Given the description of an element on the screen output the (x, y) to click on. 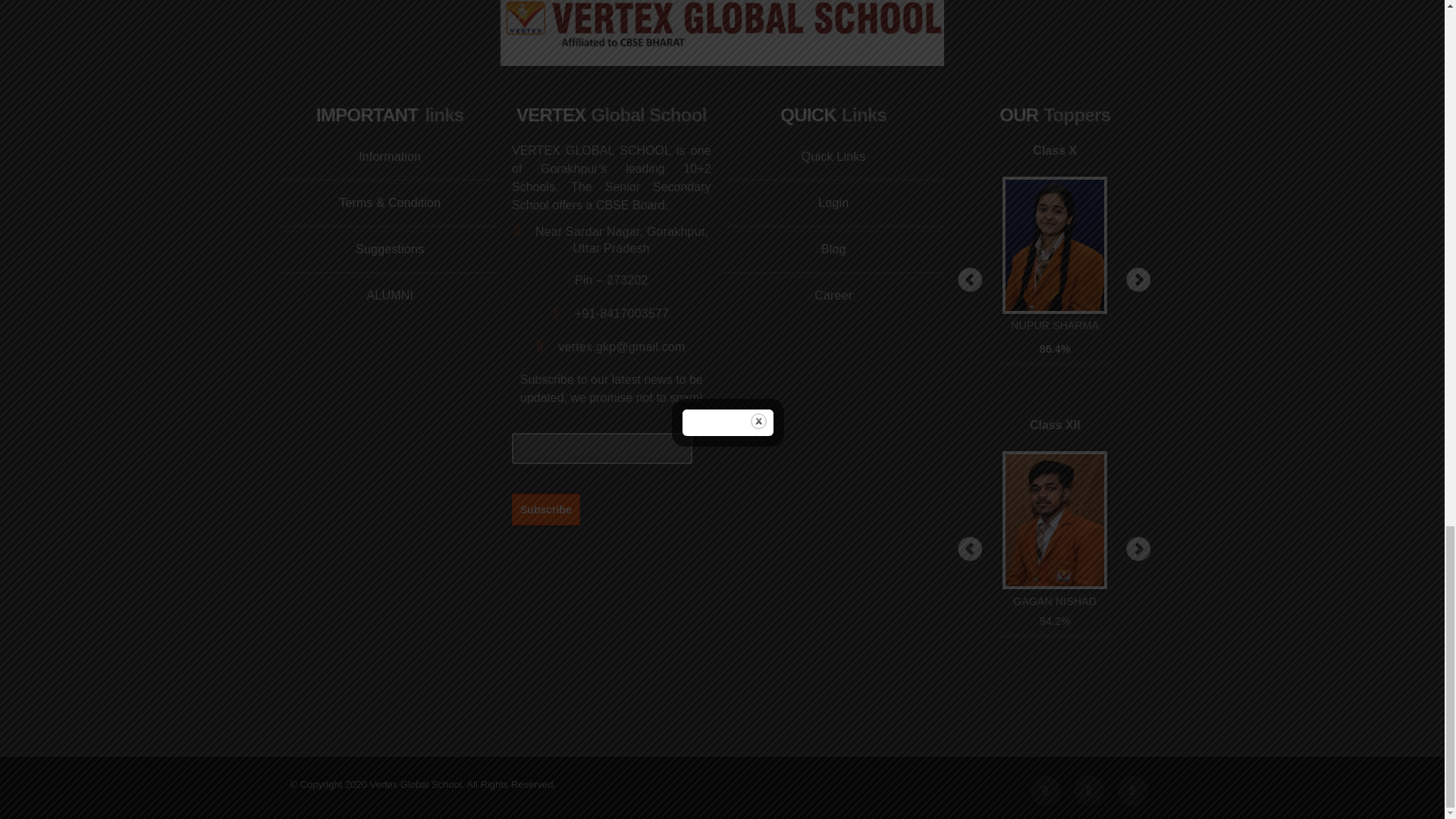
Subscribe (545, 508)
